Given the description of an element on the screen output the (x, y) to click on. 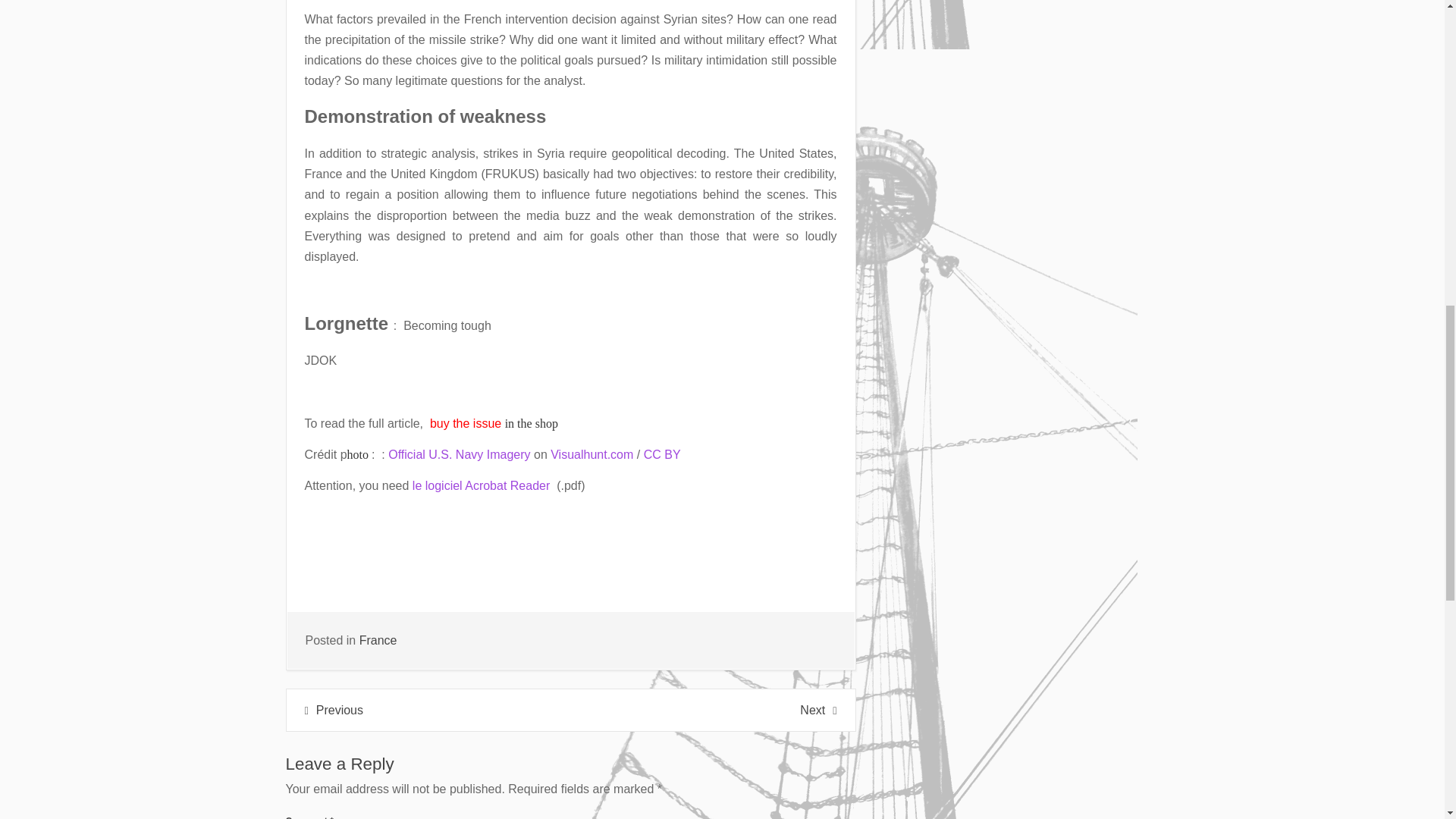
CC BY (662, 454)
le logiciel Acrobat Reader (481, 485)
Official U.S. Navy Imagery (458, 454)
Next (817, 709)
France (378, 640)
Visualhunt.com (591, 454)
Previous (334, 709)
buy the issue (464, 422)
